Given the description of an element on the screen output the (x, y) to click on. 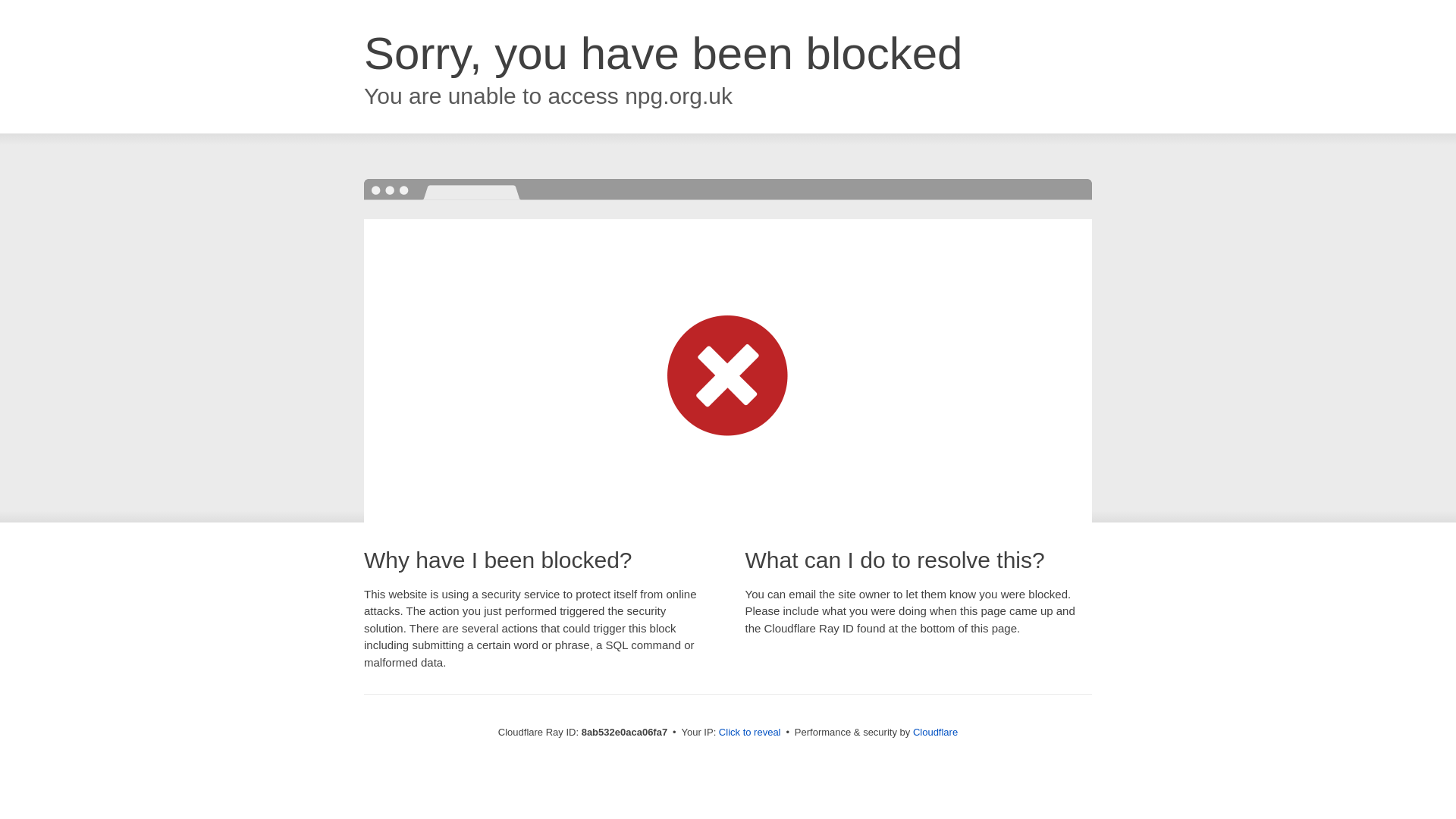
Click to reveal (749, 732)
Cloudflare (935, 731)
